Given the description of an element on the screen output the (x, y) to click on. 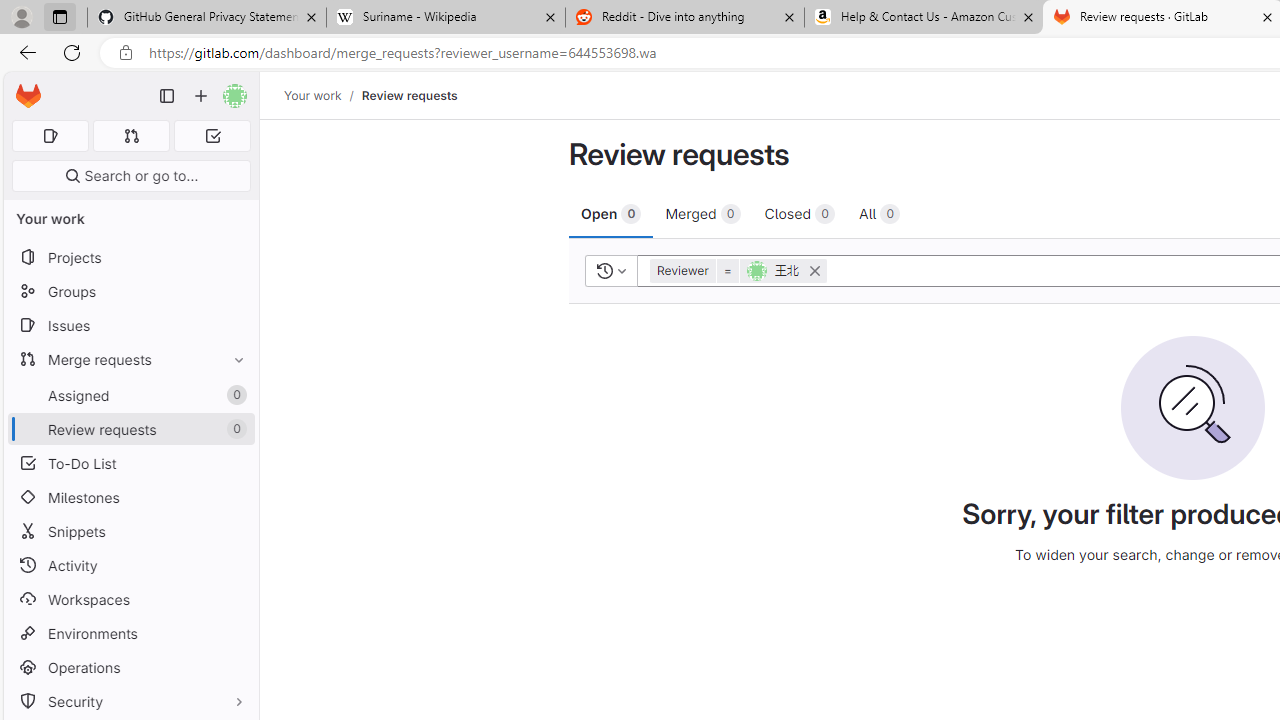
Remove search filter (810, 270)
Operations (130, 667)
Merged 0 (702, 213)
Projects (130, 257)
Activity (130, 564)
Merge requests (130, 358)
Merge requests 0 (131, 136)
To-Do List (130, 463)
Issues (130, 325)
All 0 (879, 213)
Review requests (409, 95)
